Given the description of an element on the screen output the (x, y) to click on. 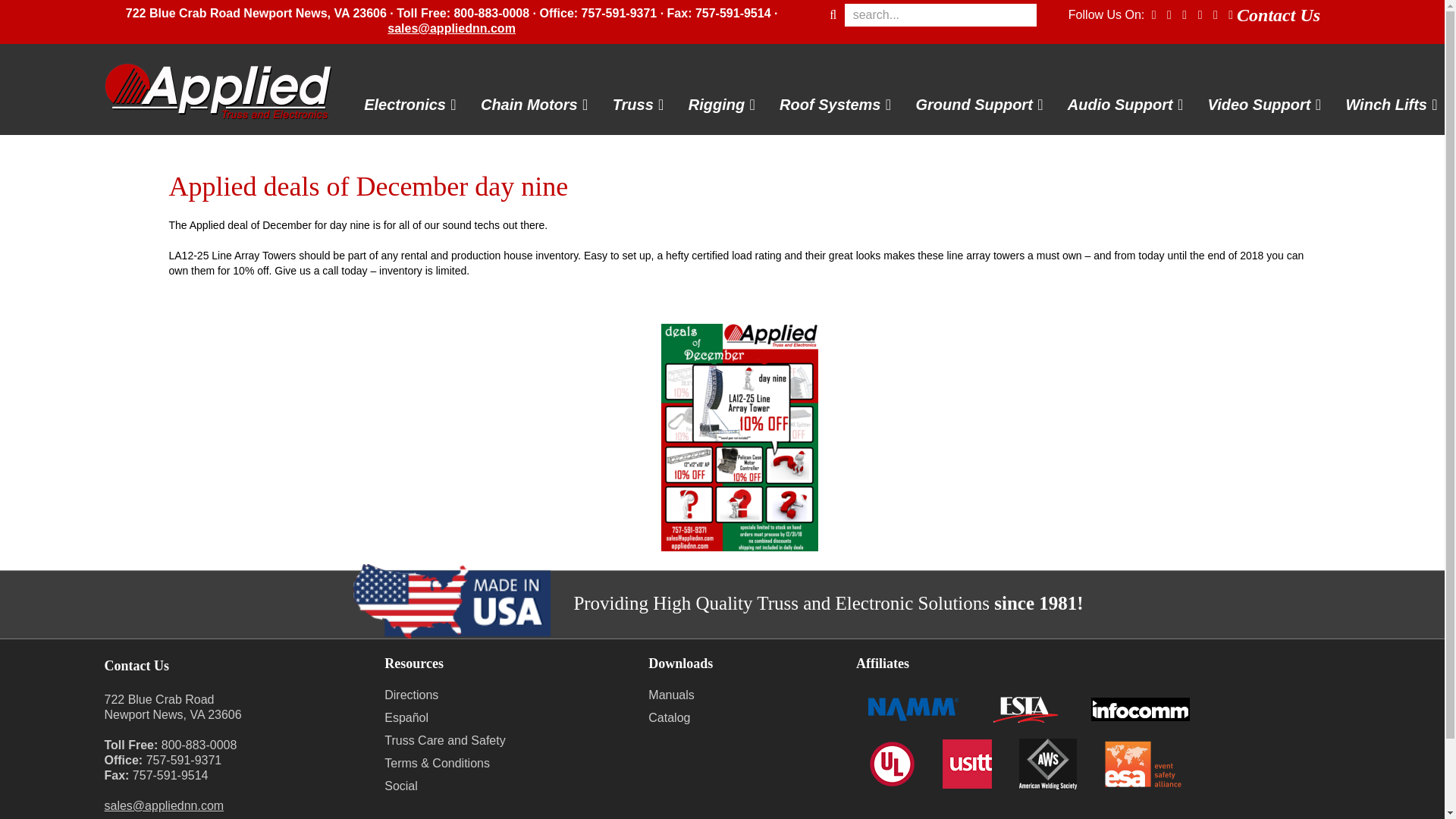
Email Us! (451, 28)
Chain Motors (529, 104)
Rigging (716, 104)
Email Us! (164, 805)
Contact Us (1278, 14)
Truss (633, 104)
Roof Systems (829, 104)
Electronics (404, 104)
